Given the description of an element on the screen output the (x, y) to click on. 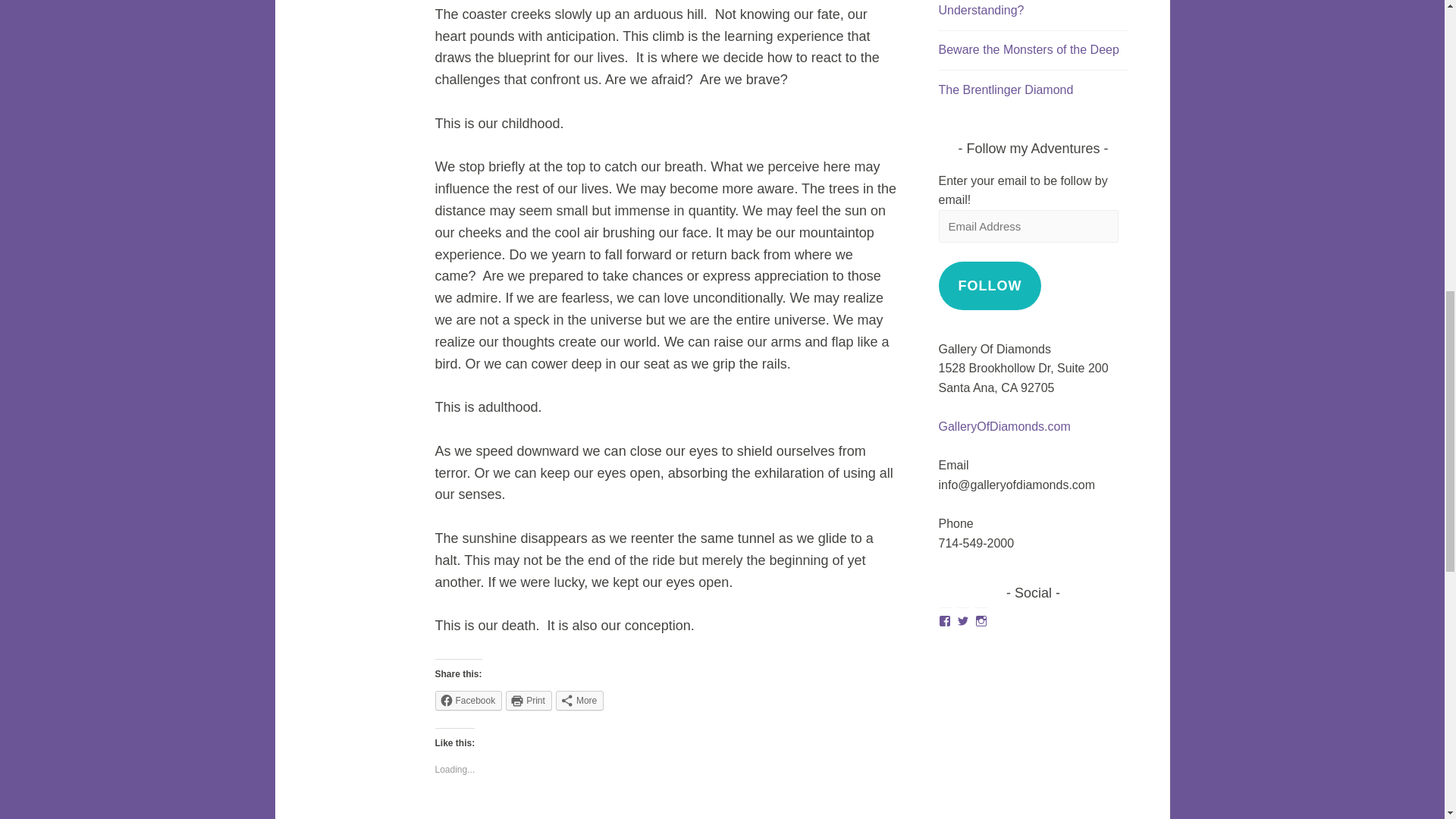
Click to share on Facebook (468, 700)
Facebook (468, 700)
Click to print (528, 700)
More (580, 700)
Beware the Monsters of the Deep (1029, 49)
Print (528, 700)
Should We Lean On Our Own Understanding? (1019, 8)
